Given the description of an element on the screen output the (x, y) to click on. 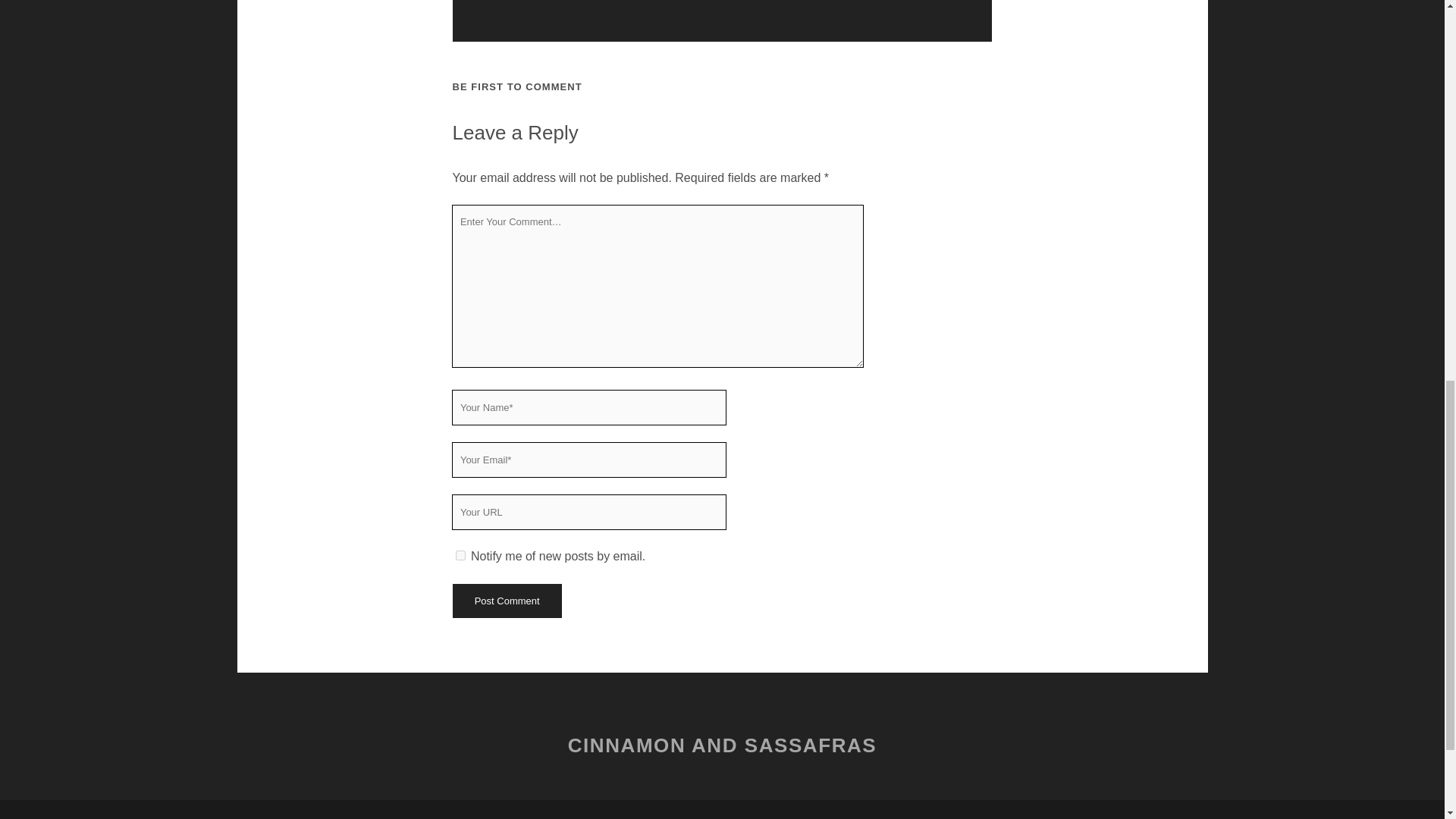
subscribe (459, 555)
Post Comment (505, 600)
Post Comment (505, 600)
Posts by Aili (538, 2)
CINNAMON AND SASSAFRAS (721, 744)
AILI (538, 2)
